Given the description of an element on the screen output the (x, y) to click on. 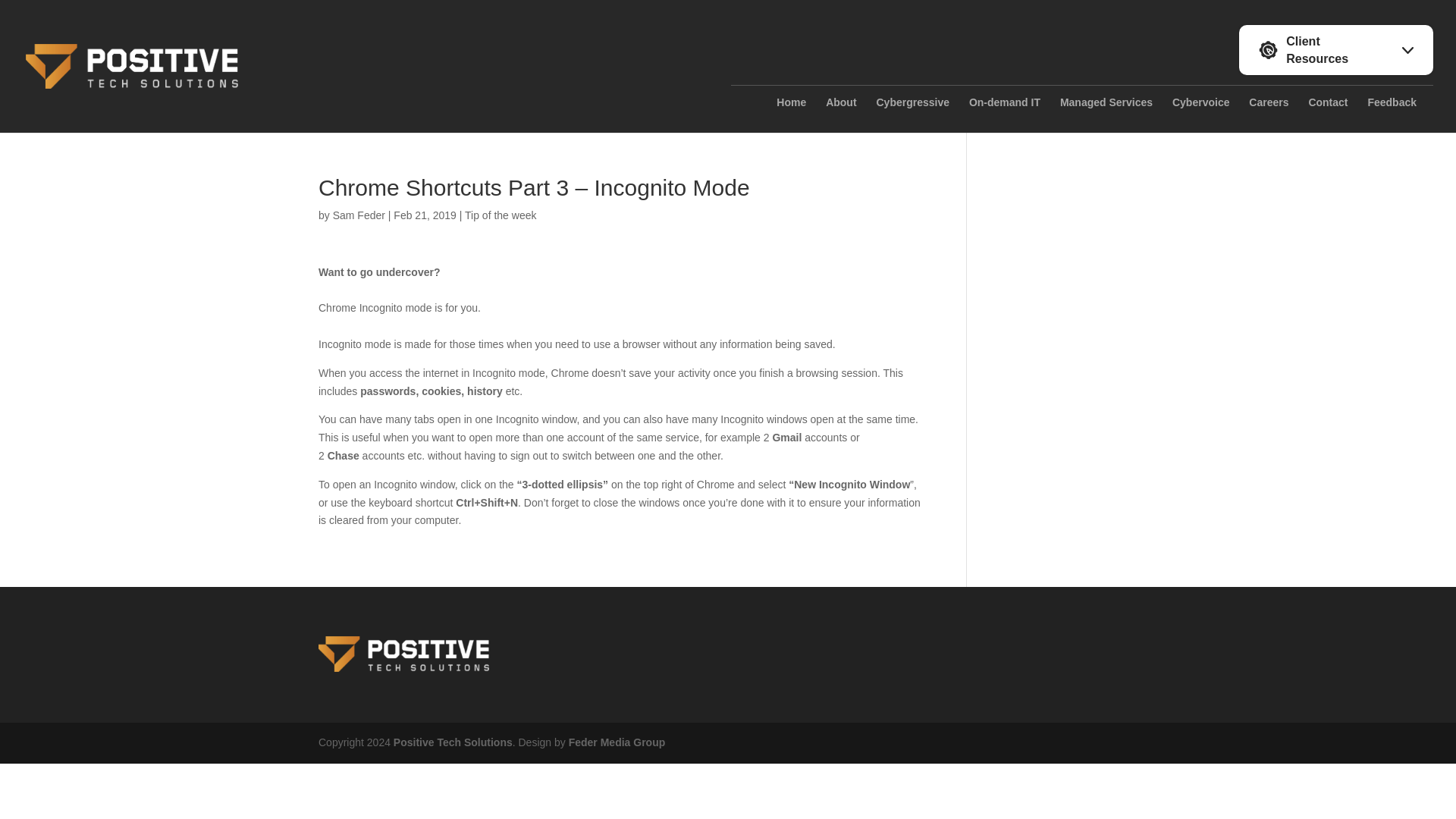
Careers (1268, 114)
Cybervoice (1200, 114)
Posts by Sam Feder (359, 215)
Managed Services (1106, 114)
Contact (1327, 114)
Cybergressive (912, 114)
On-demand IT (1005, 114)
Feedback (1391, 114)
